Given the description of an element on the screen output the (x, y) to click on. 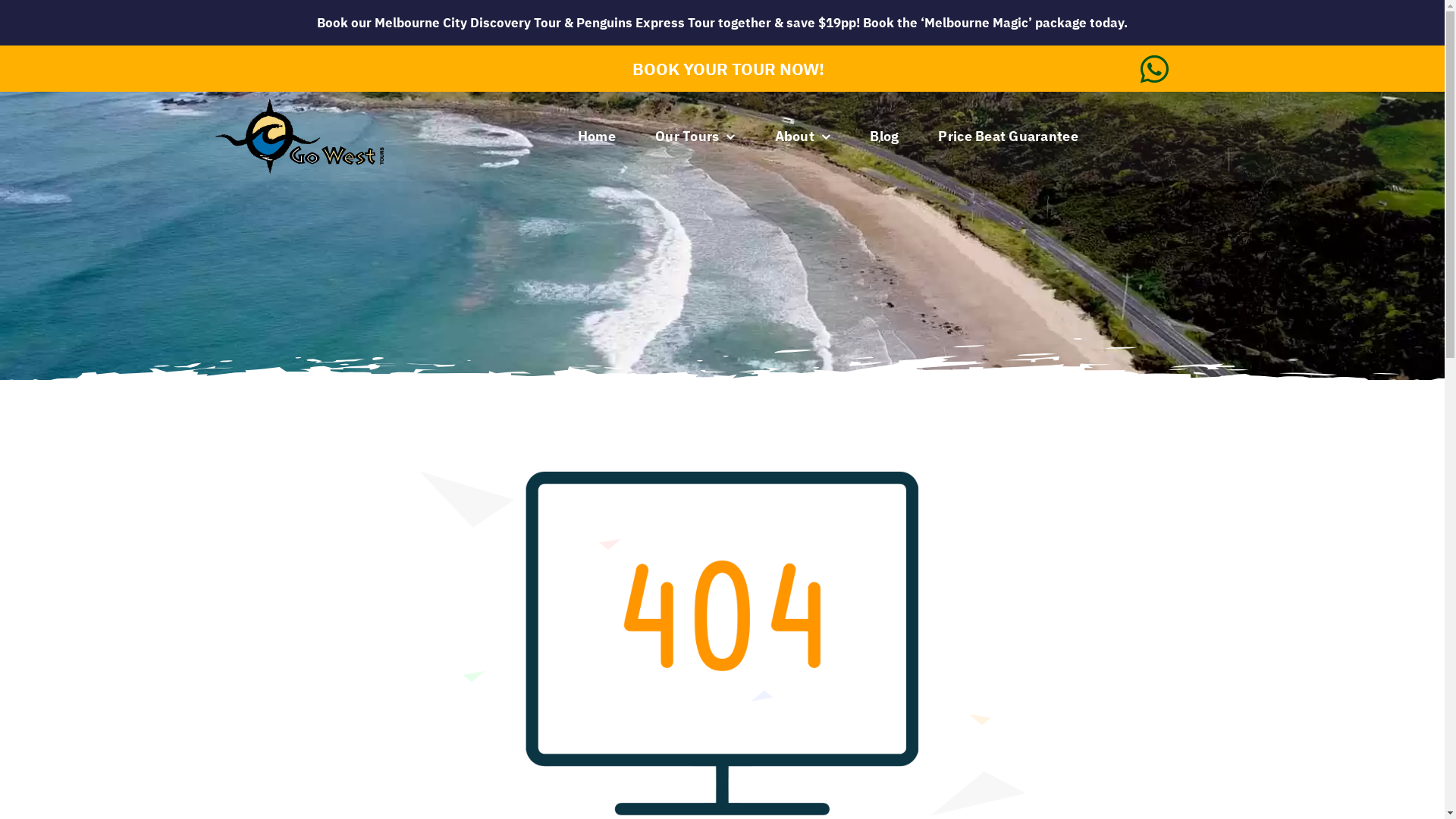
BOOK YOUR TOUR NOW! Element type: text (721, 68)
About Element type: text (802, 136)
Price Beat Guarantee Element type: text (1007, 136)
404-not-found-error Element type: hover (721, 642)
Our Tours Element type: text (694, 136)
Home Element type: text (596, 136)
Blog Element type: text (884, 136)
